Given the description of an element on the screen output the (x, y) to click on. 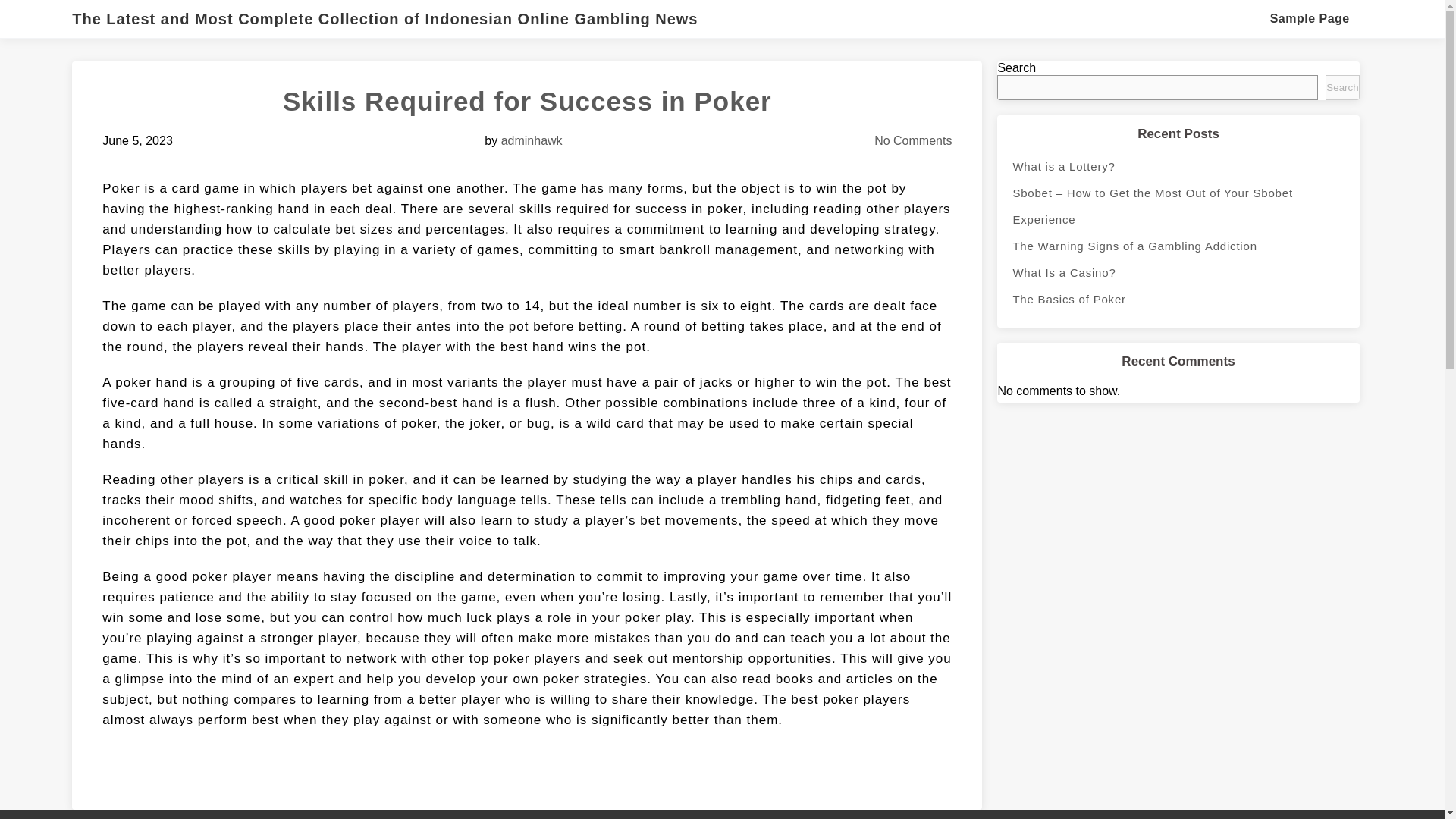
Search (1341, 87)
Posts by adminhawk (531, 140)
What Is a Casino? (1177, 272)
adminhawk (531, 140)
The Basics of Poker (1177, 298)
The Warning Signs of a Gambling Addiction (1177, 245)
What is a Lottery? (1177, 166)
Sample Page (1309, 18)
No Comments (913, 140)
